Given the description of an element on the screen output the (x, y) to click on. 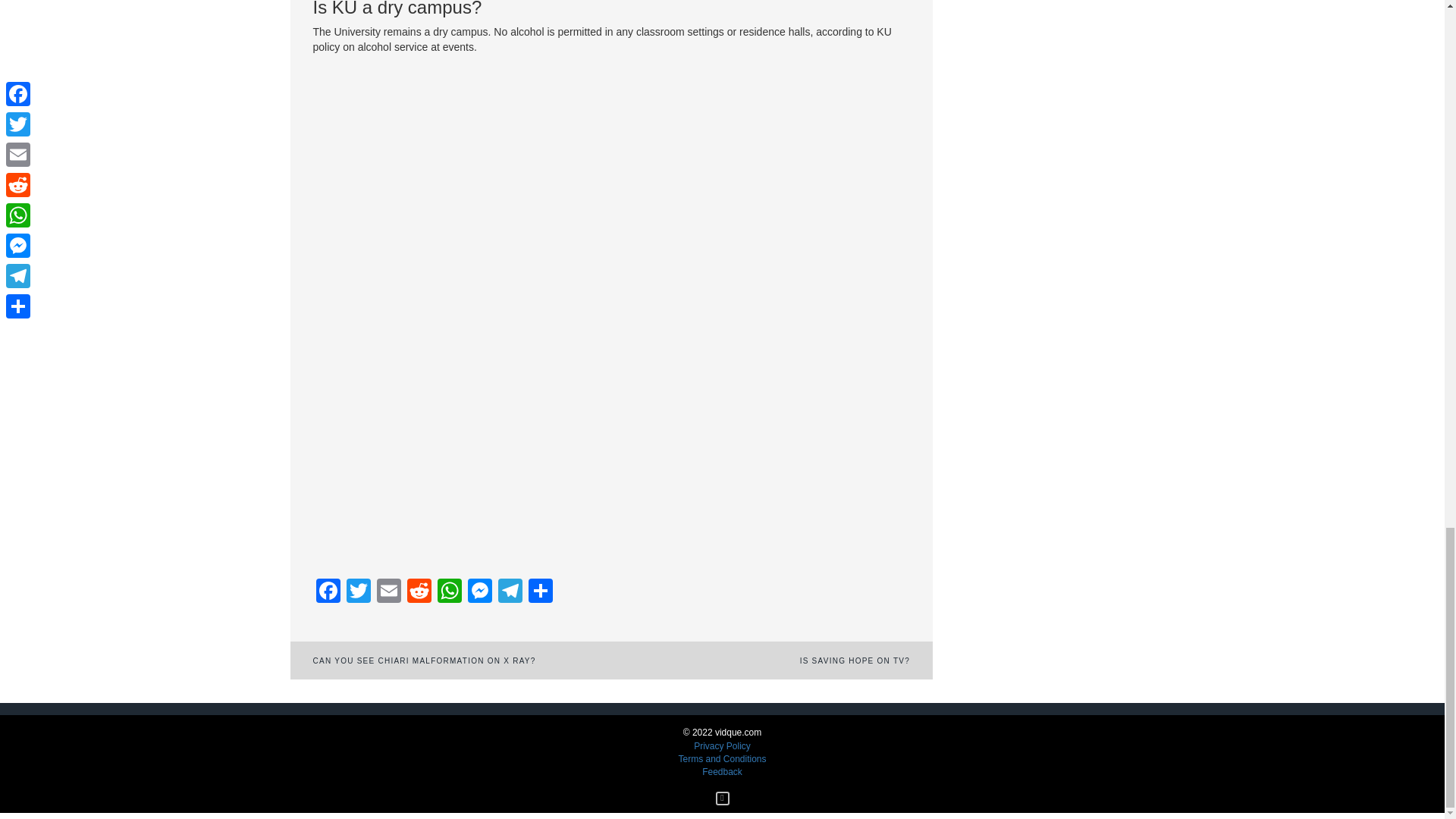
Reddit (418, 592)
IS SAVING HOPE ON TV? (854, 660)
Twitter (357, 592)
Messenger (479, 592)
Telegram (509, 592)
Messenger (479, 592)
Email (387, 592)
Facebook (327, 592)
WhatsApp (448, 592)
Facebook (327, 592)
WhatsApp (448, 592)
Email (387, 592)
Share (539, 592)
Reddit (418, 592)
Telegram (509, 592)
